Given the description of an element on the screen output the (x, y) to click on. 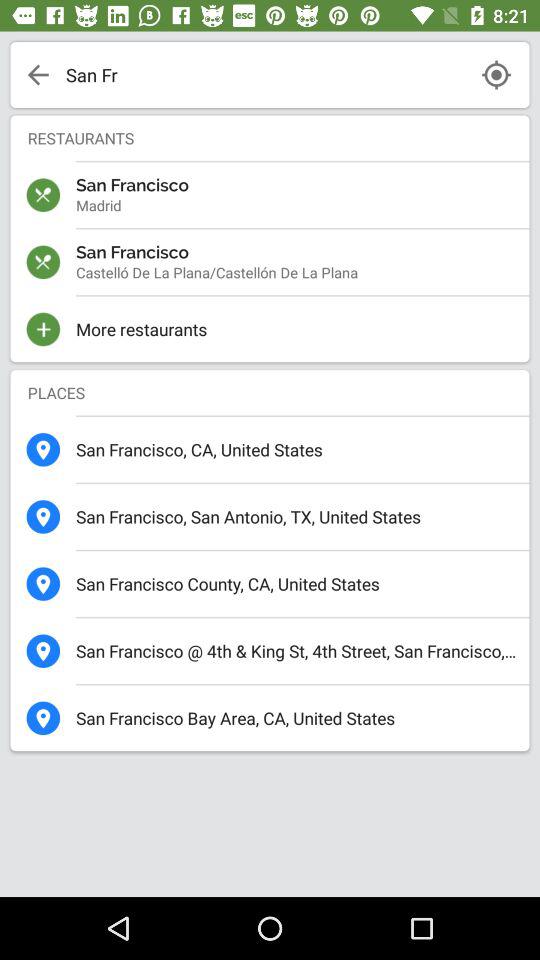
get your location (496, 74)
